Given the description of an element on the screen output the (x, y) to click on. 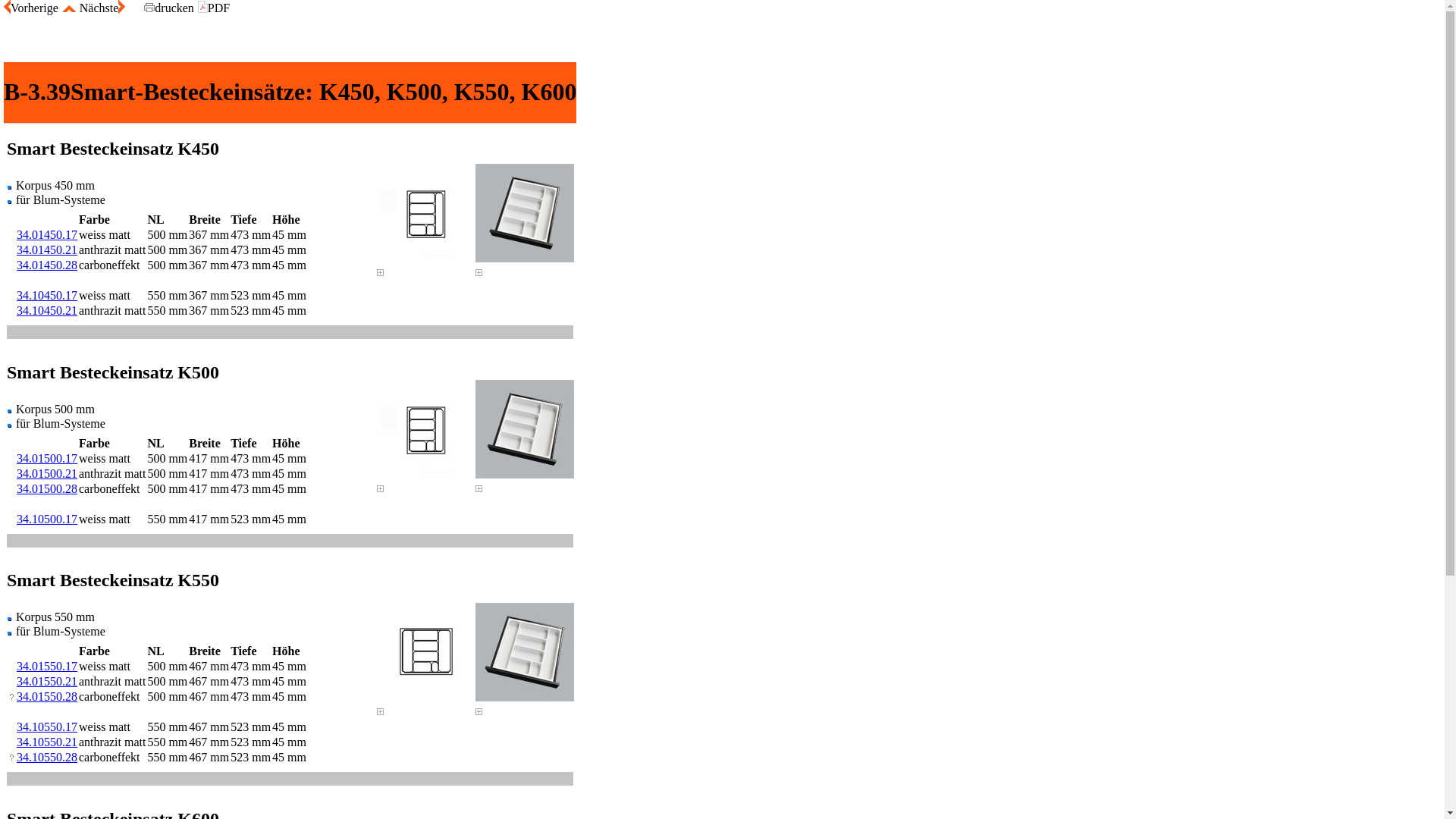
34.01450.17 Element type: text (46, 234)
34.10500.17 Element type: text (46, 518)
drucken Element type: text (169, 8)
zeigt grosse Illustration an Element type: hover (478, 711)
Vorherige Element type: text (30, 8)
34.01500.21 Element type: text (46, 473)
34.01450.21 Element type: text (46, 249)
34.01500.28 Element type: text (46, 488)
34.01550.28 Element type: text (46, 696)
34.01550.21 Element type: text (46, 680)
34.01500.17 Element type: text (46, 457)
keine Katalog-Artikelnummer Element type: hover (11, 696)
34.10450.17 Element type: text (46, 294)
zeigt grosse Illustration an Element type: hover (478, 272)
zeigt grosse techn. Zeichnung an Element type: hover (379, 272)
34.01450.28 Element type: text (46, 264)
keine Katalog-Artikelnummer Element type: hover (11, 757)
zeigt grosse techn. Zeichnung an Element type: hover (379, 488)
34.10550.17 Element type: text (46, 726)
34.10450.21 Element type: text (46, 310)
PDF Element type: text (211, 7)
34.10550.21 Element type: text (46, 741)
zeigt grosse Illustration an Element type: hover (478, 488)
34.10550.28 Element type: text (46, 756)
34.01550.17 Element type: text (46, 665)
B-3.39 Element type: text (36, 92)
zeigt grosse techn. Zeichnung an Element type: hover (379, 711)
